Given the description of an element on the screen output the (x, y) to click on. 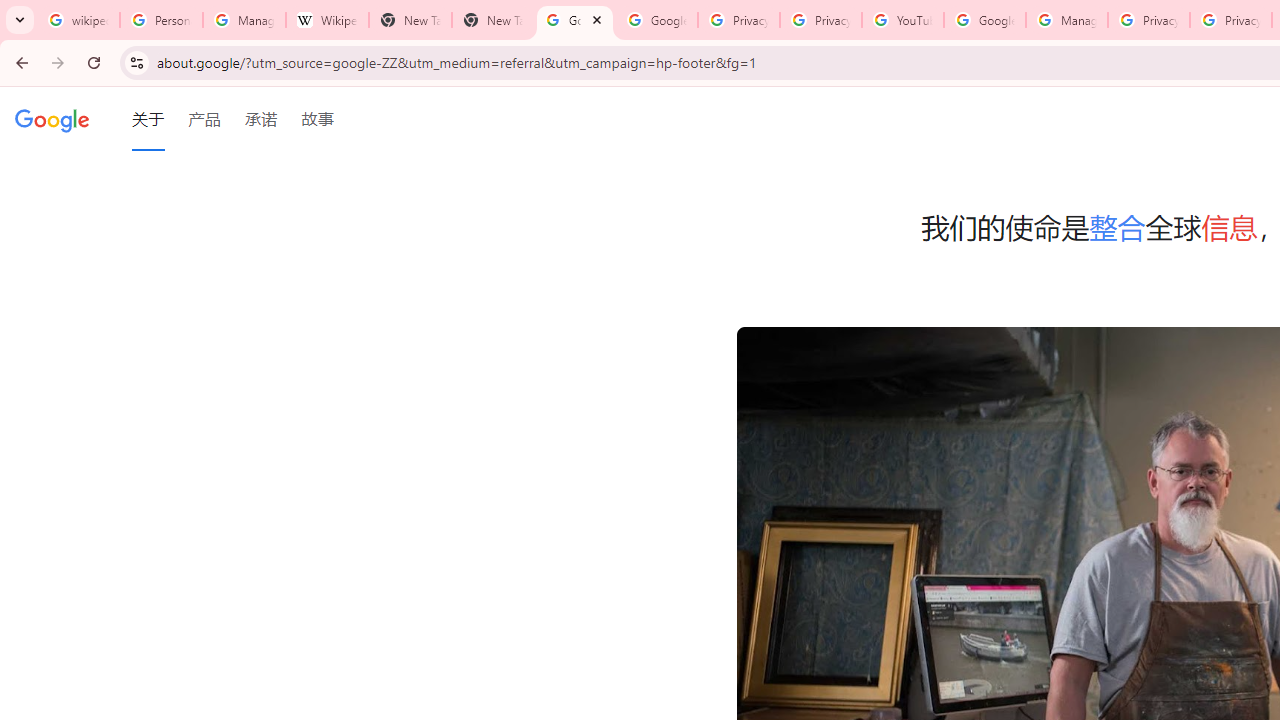
Wikipedia:Edit requests - Wikipedia (326, 20)
Google Drive: Sign-in (656, 20)
YouTube (902, 20)
Reload (93, 62)
New Tab (409, 20)
Forward (57, 62)
View site information (136, 62)
Close (596, 19)
Search tabs (20, 20)
Google Account Help (984, 20)
System (10, 11)
